Given the description of an element on the screen output the (x, y) to click on. 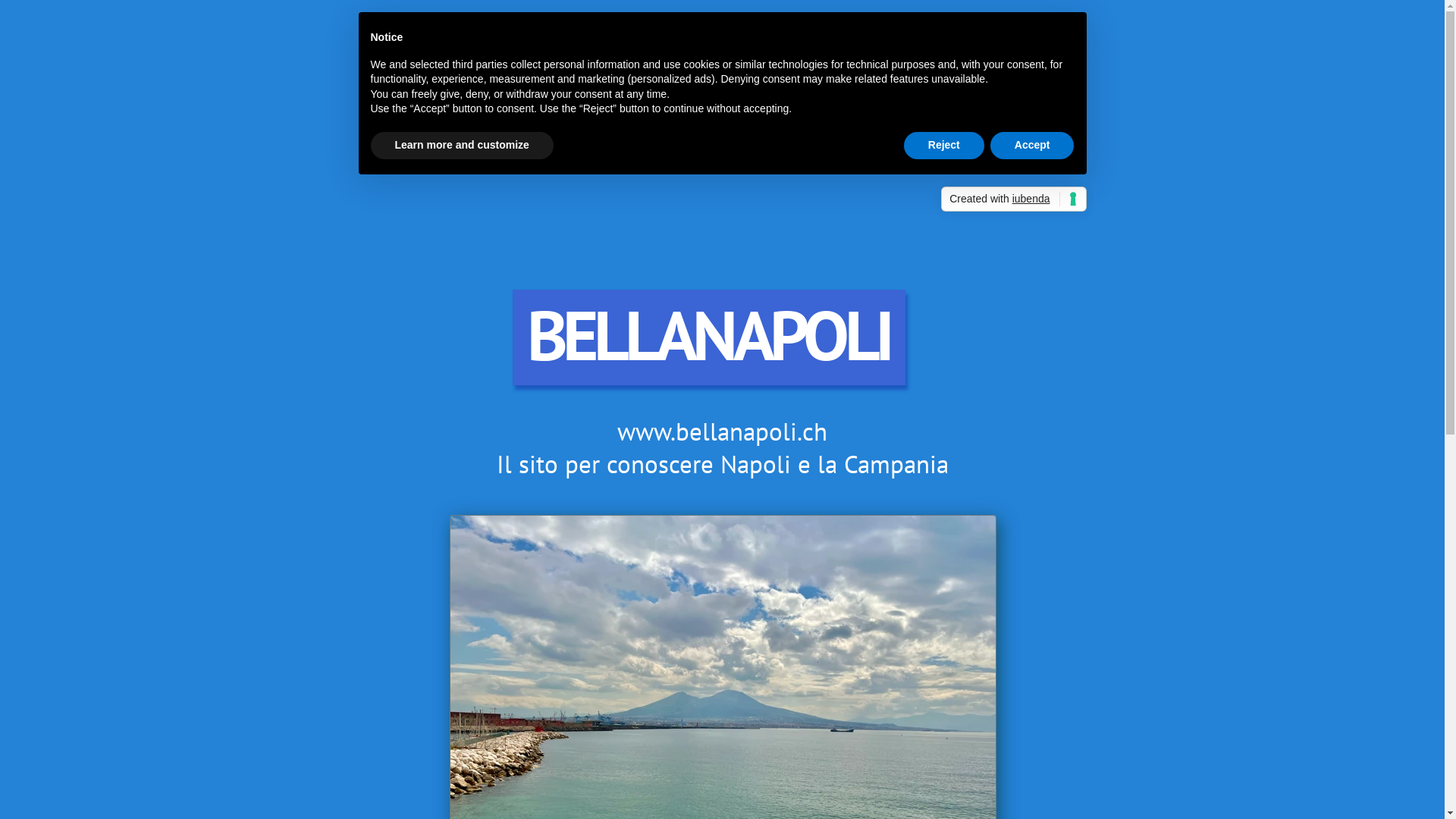
Reject Element type: text (943, 145)
Created with iubenda Element type: text (1013, 199)
Accept Element type: text (1032, 145)
Learn more and customize Element type: text (461, 145)
